Given the description of an element on the screen output the (x, y) to click on. 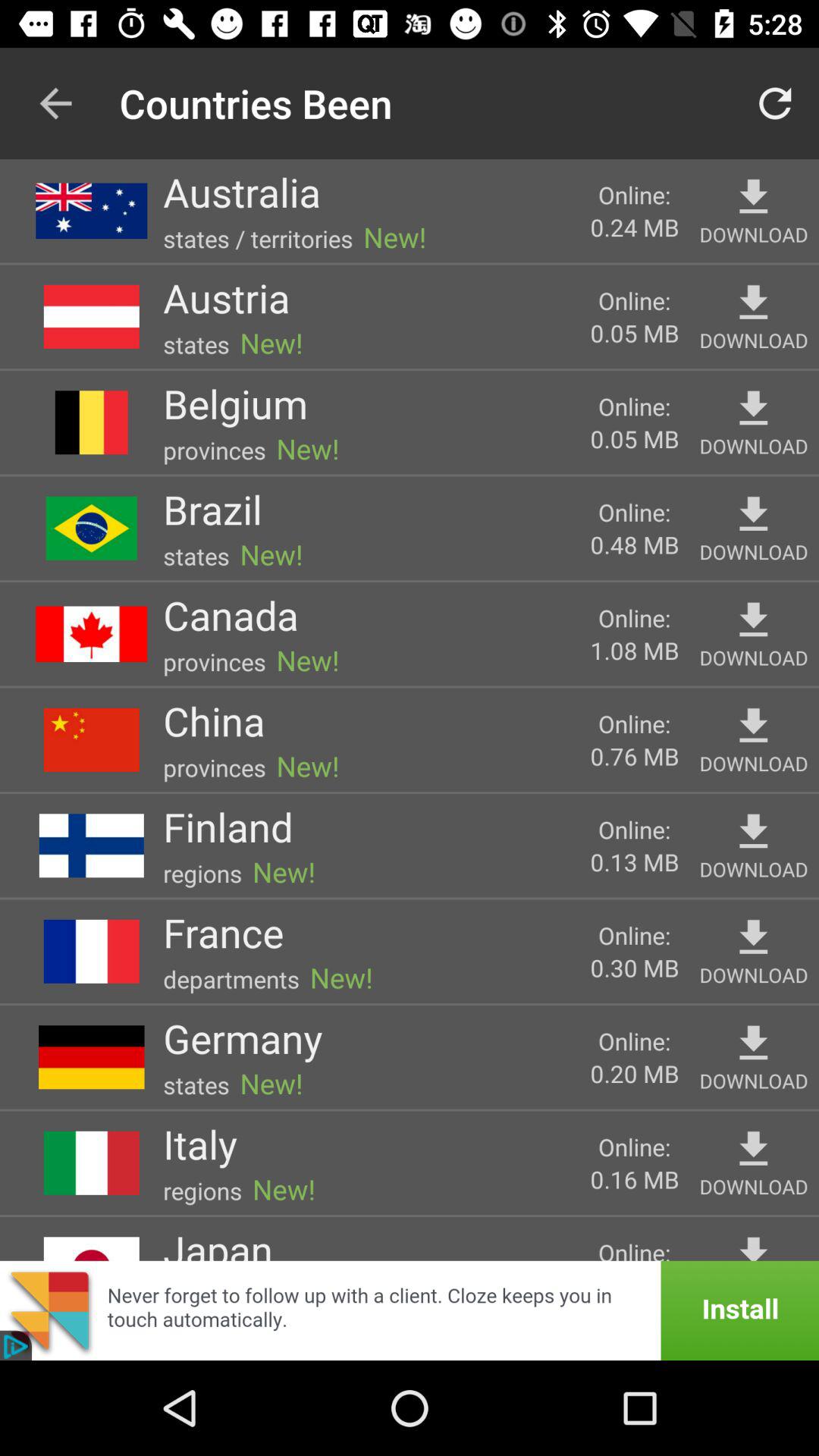
select the china item (214, 720)
